Given the description of an element on the screen output the (x, y) to click on. 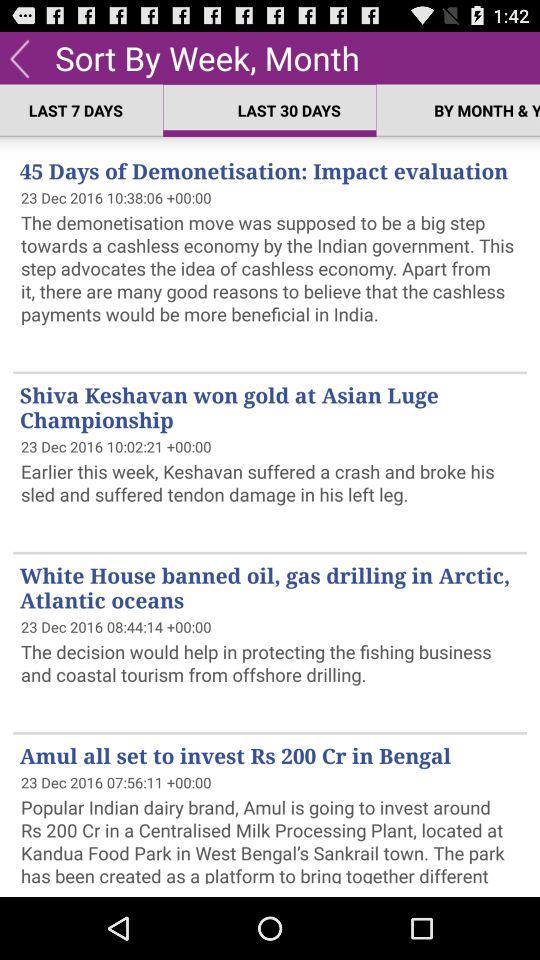
tap the icon above last 7 days app (19, 57)
